Given the description of an element on the screen output the (x, y) to click on. 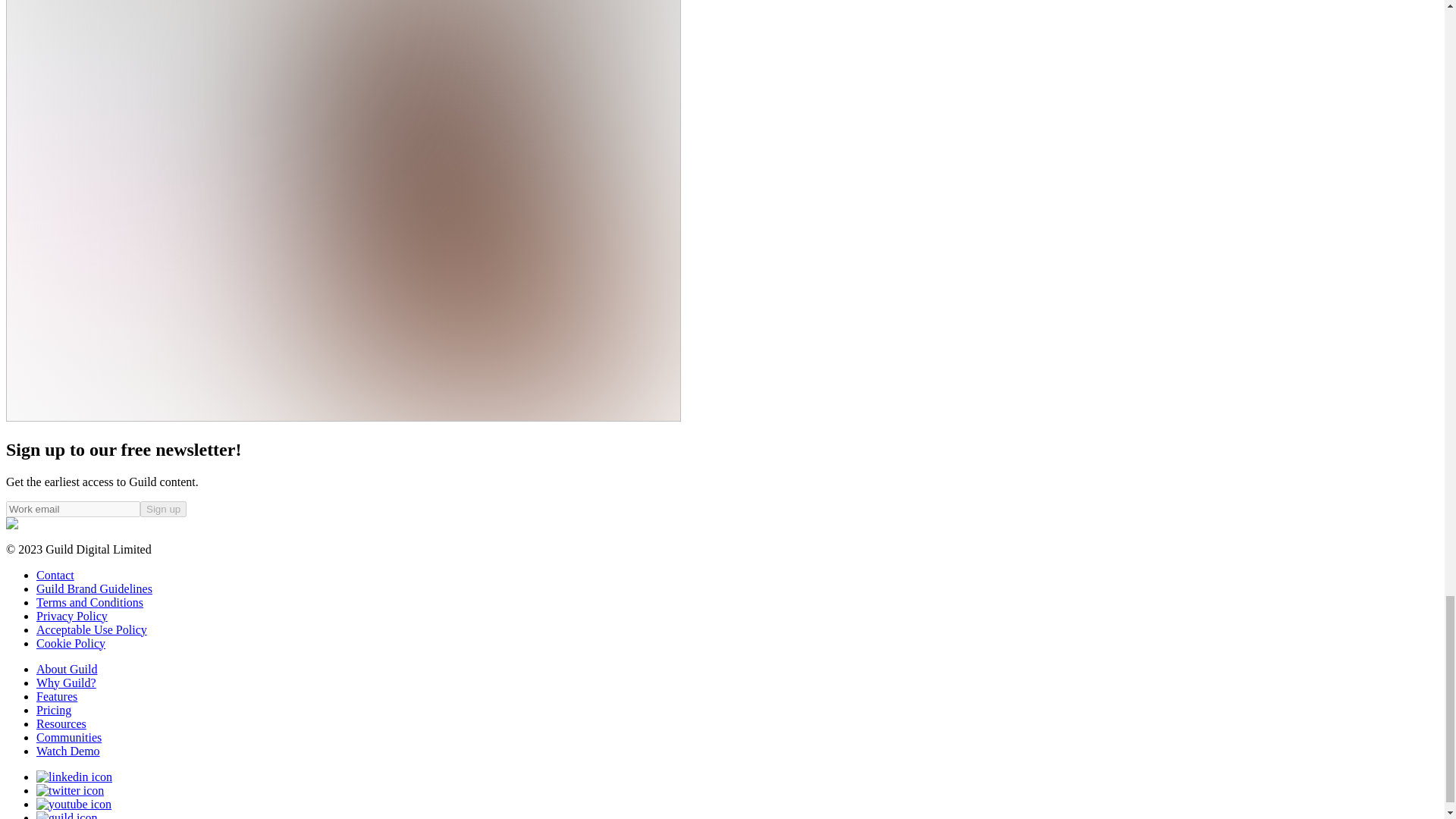
About Guild (66, 668)
Guild Brand Guidelines (94, 588)
Sign up (162, 508)
Communities (68, 737)
Resources (60, 723)
Why Guild? (66, 682)
Contact (55, 574)
Acceptable Use Policy (91, 629)
Features (56, 696)
Pricing (53, 709)
Terms and Conditions (89, 602)
Cookie Policy (70, 643)
Watch Demo (68, 750)
Privacy Policy (71, 615)
